Given the description of an element on the screen output the (x, y) to click on. 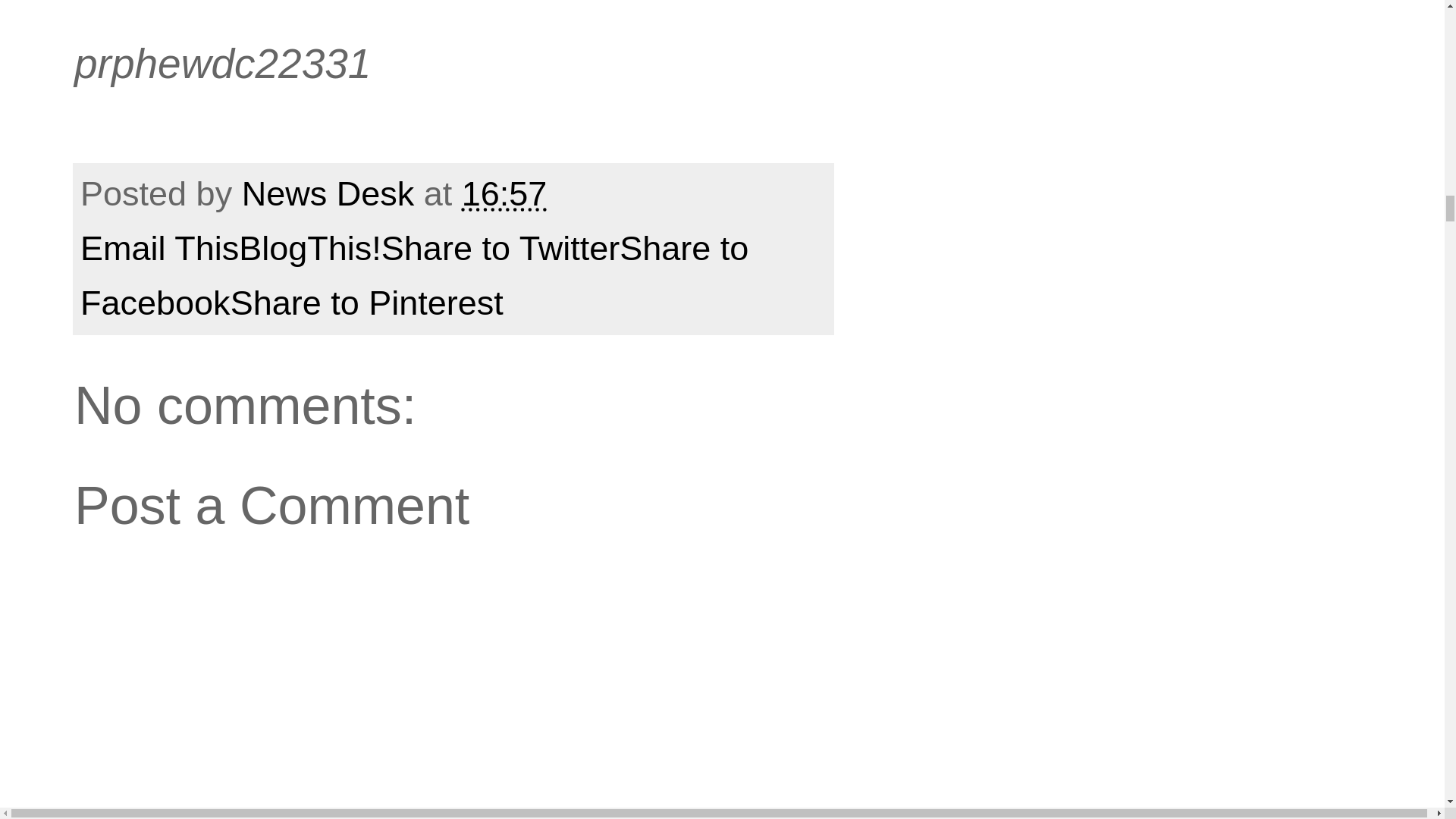
Share to Twitter (500, 248)
Email This (159, 248)
Email This (159, 248)
Share to Pinterest (366, 302)
permanent link (504, 193)
BlogThis! (309, 248)
16:57 (504, 193)
Share to Pinterest (366, 302)
Share to Twitter (500, 248)
Share to Facebook (414, 275)
Share to Facebook (414, 275)
BlogThis! (309, 248)
News Desk (332, 193)
author profile (332, 193)
